Given the description of an element on the screen output the (x, y) to click on. 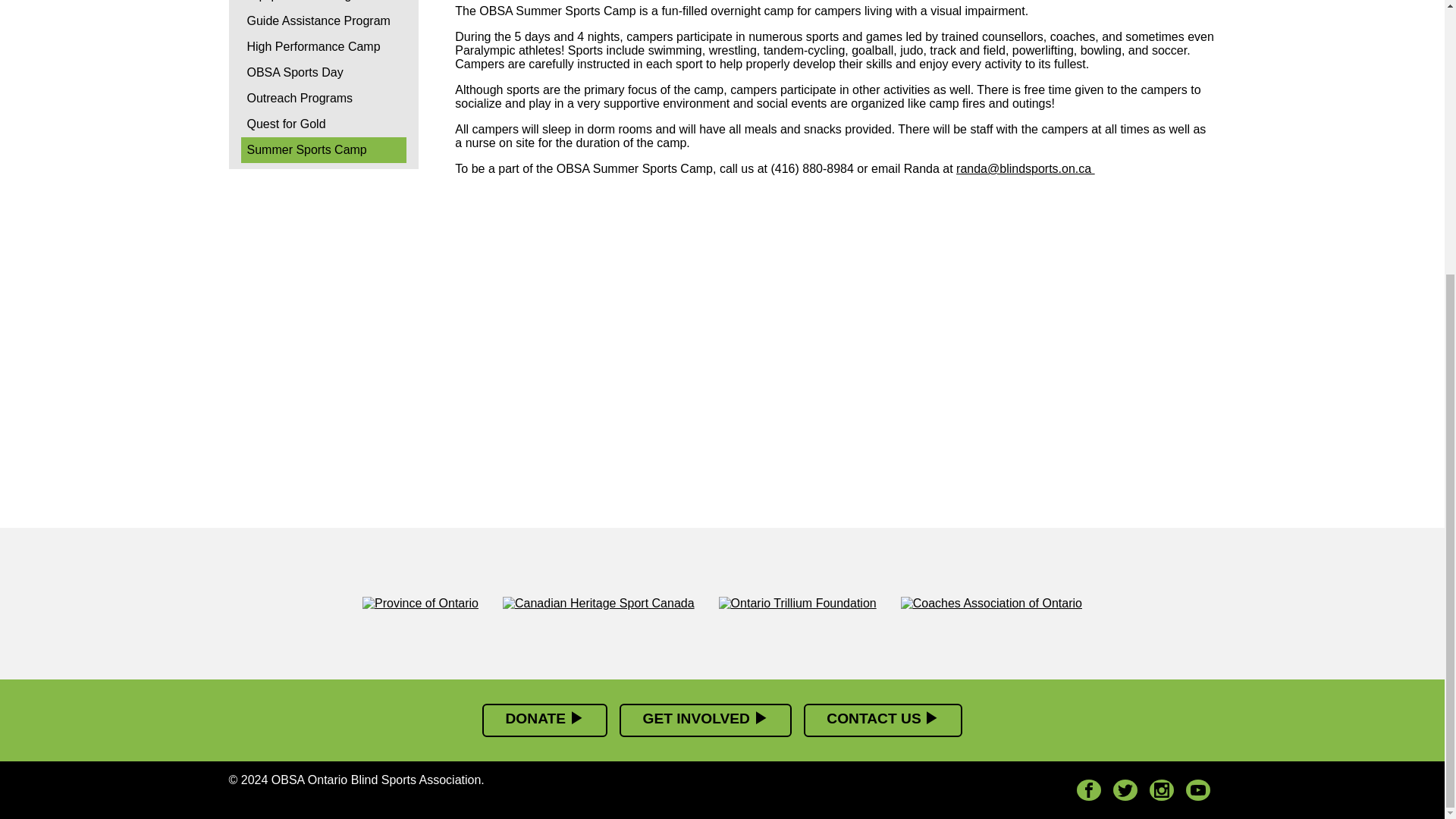
Twitter (1125, 789)
Instagram (1161, 789)
Summer Sports Camp (324, 149)
OBSA Sports Day (324, 72)
CONTACT US (882, 720)
Facebook (1088, 789)
Outreach Programs (324, 98)
Facebook (1088, 789)
GET INVOLVED (706, 720)
High Performance Camp (324, 46)
Equipment Loaning (324, 4)
Guide Assistance Program (324, 21)
Quest for Gold (324, 124)
Twitter (1125, 789)
DONATE (544, 720)
